Given the description of an element on the screen output the (x, y) to click on. 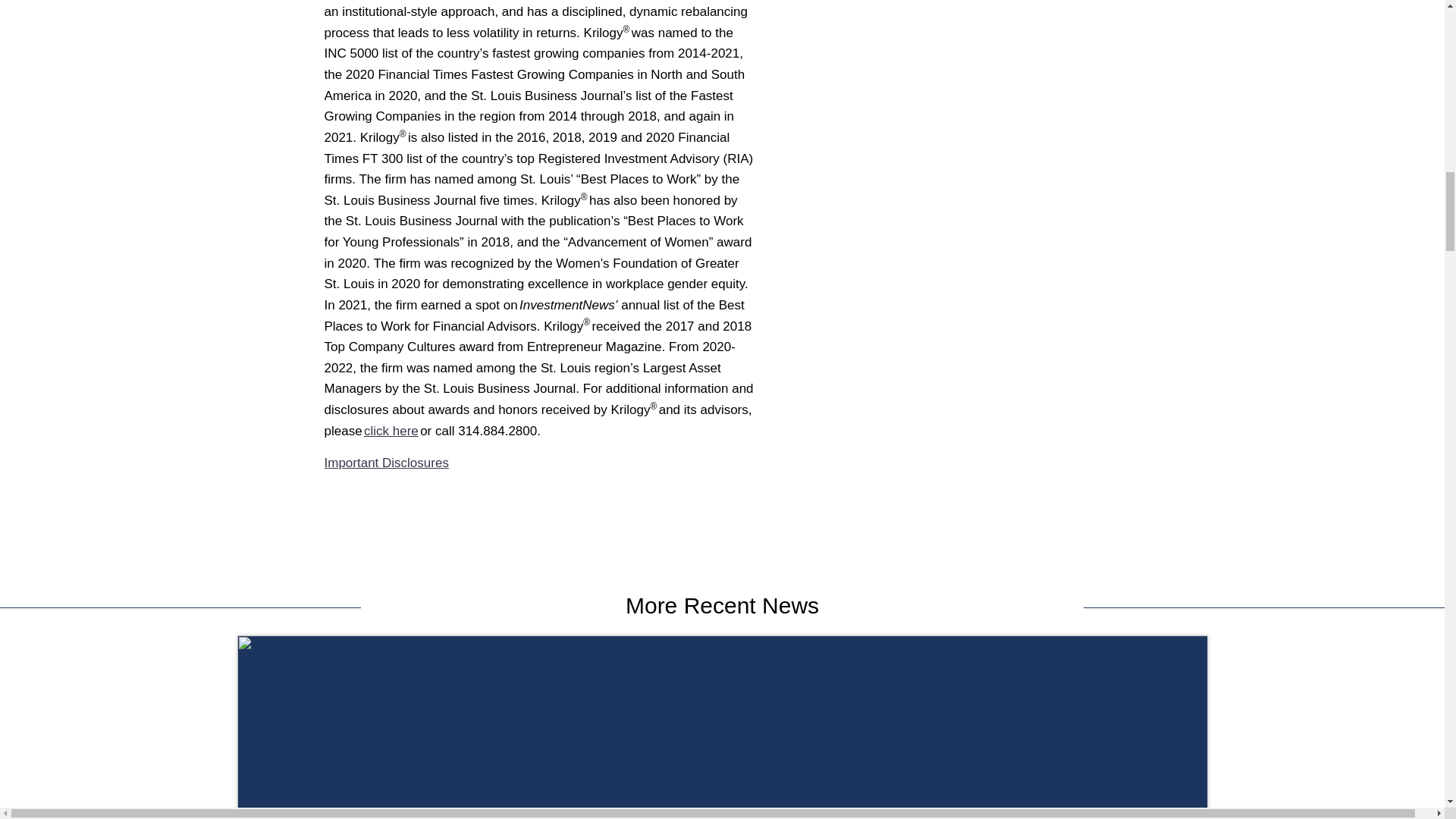
click here (391, 431)
Important Disclosures (386, 462)
